Given the description of an element on the screen output the (x, y) to click on. 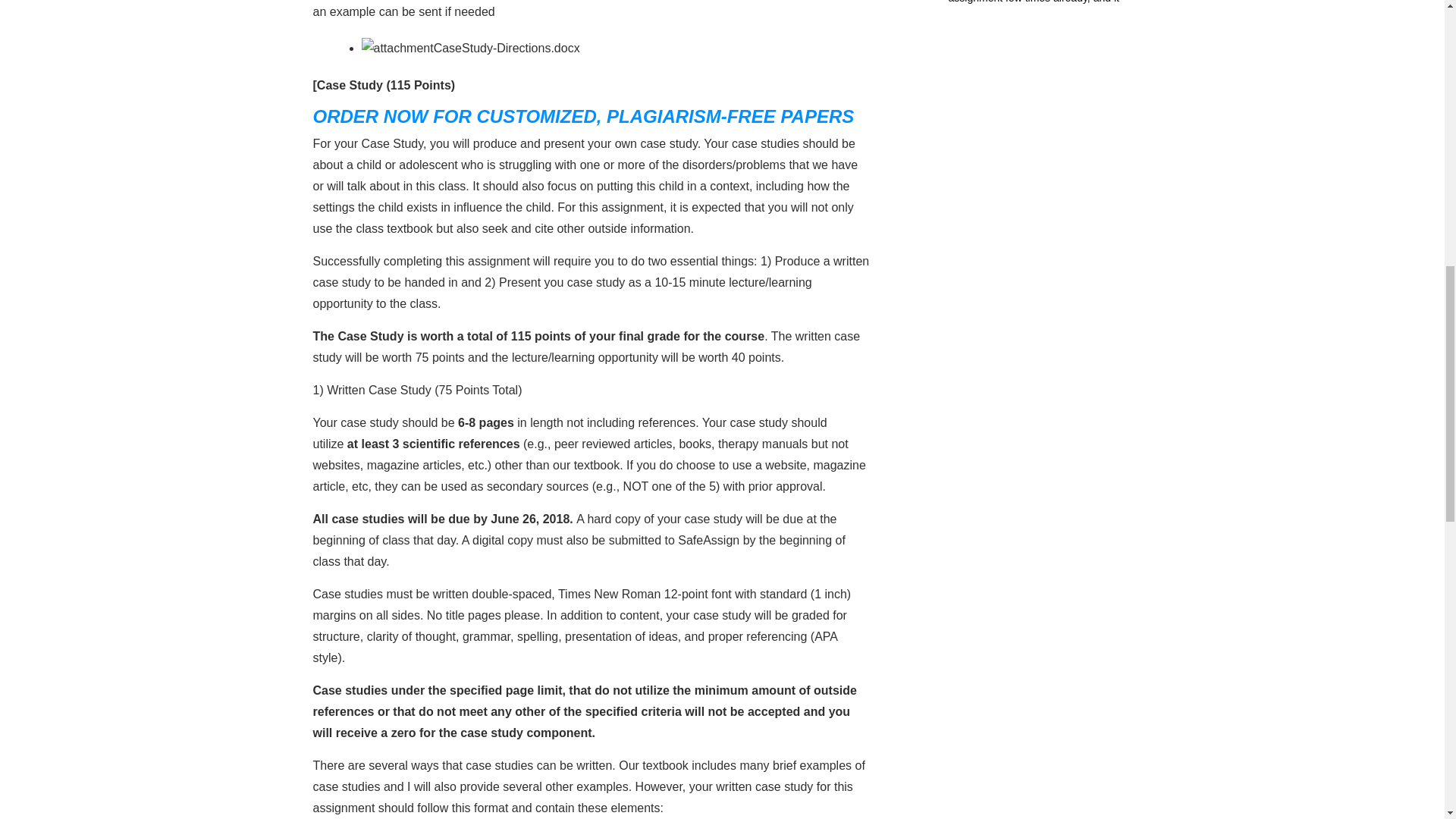
ORDER NOW FOR CUSTOMIZED, PLAGIARISM-FREE PAPERS (583, 116)
Child Psychology Case Study And Presentation 1 (396, 47)
